Given the description of an element on the screen output the (x, y) to click on. 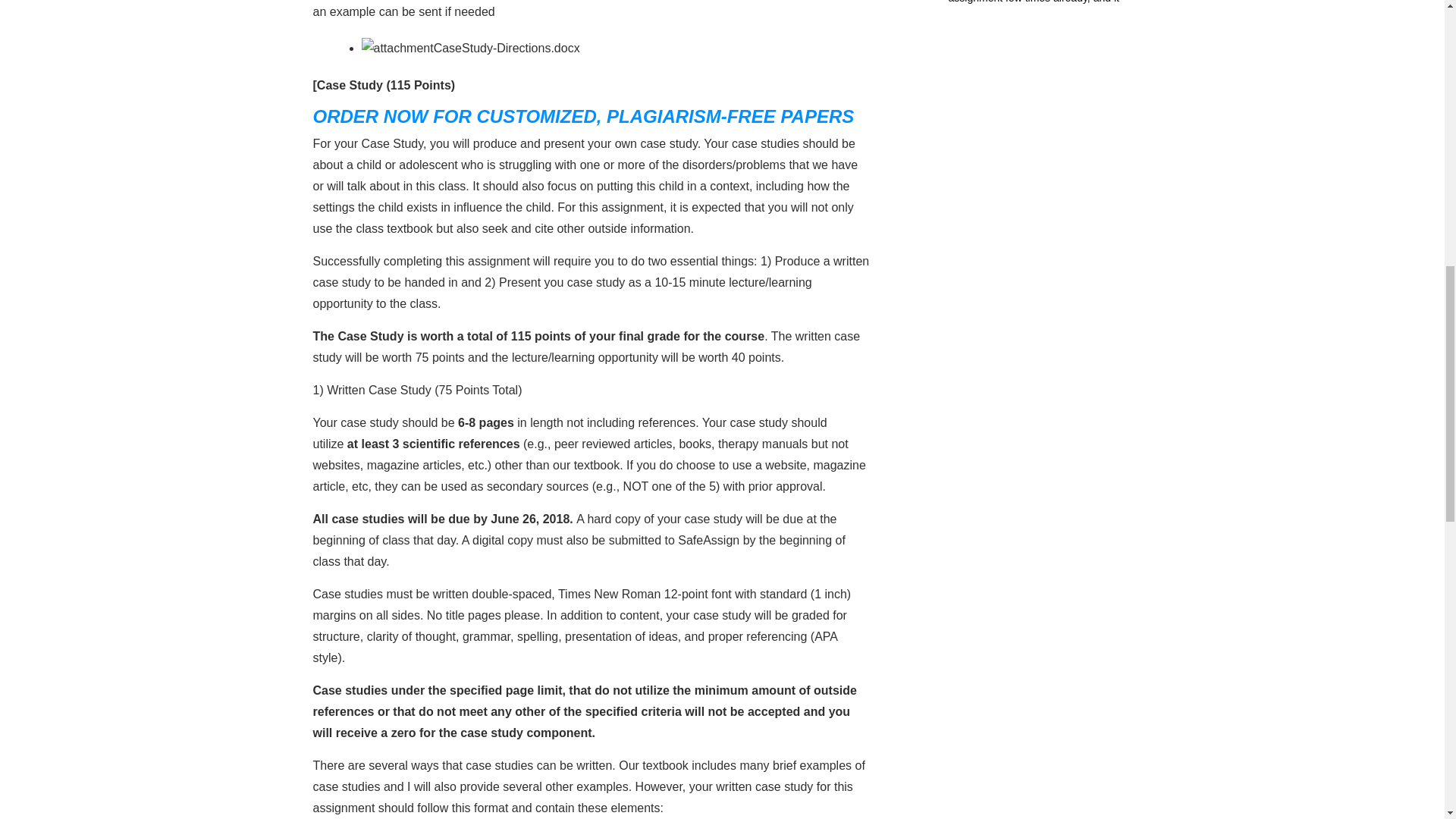
ORDER NOW FOR CUSTOMIZED, PLAGIARISM-FREE PAPERS (583, 116)
Child Psychology Case Study And Presentation 1 (396, 47)
